Given the description of an element on the screen output the (x, y) to click on. 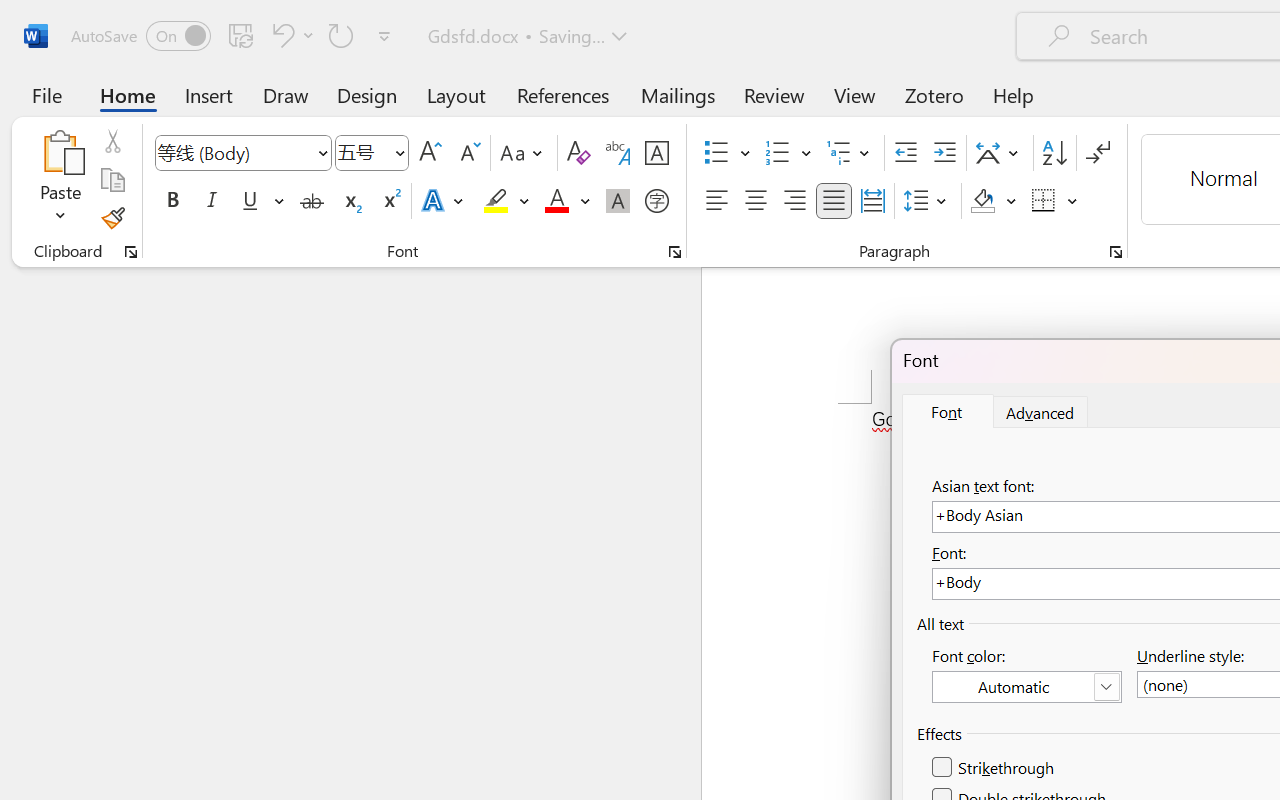
Shrink Font (468, 153)
Center (756, 201)
Increase Indent (944, 153)
Undo Style (280, 35)
Distributed (872, 201)
Undo Style (290, 35)
Font Color (Automatic) (1026, 687)
Superscript (390, 201)
